Given the description of an element on the screen output the (x, y) to click on. 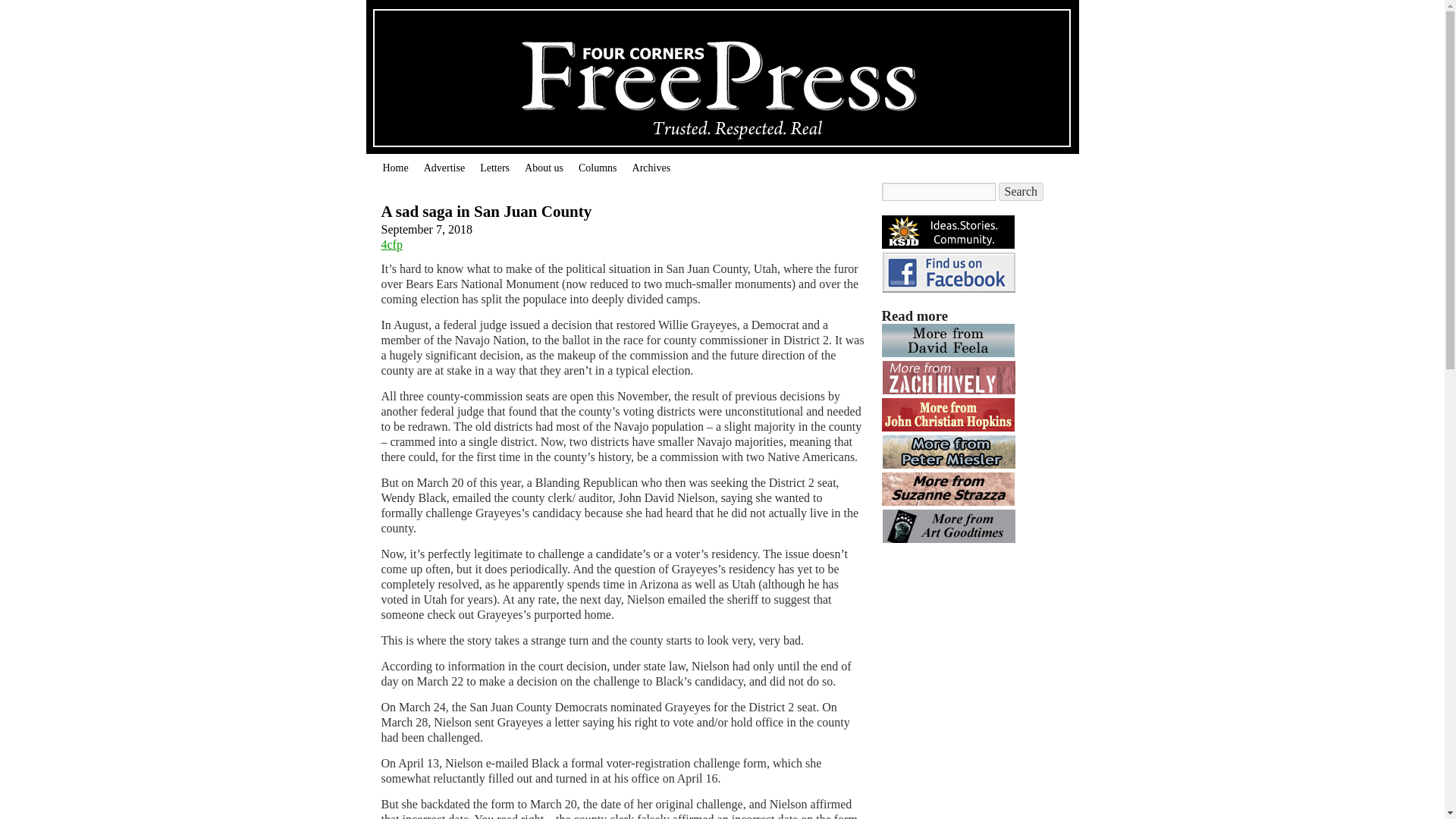
Advertise (443, 167)
Search (1020, 191)
Columns (597, 167)
Archives (651, 167)
Search (1020, 191)
4cfp (390, 244)
About us (543, 167)
Letters (493, 167)
View all posts by 4cfp (390, 244)
Home (394, 167)
